Given the description of an element on the screen output the (x, y) to click on. 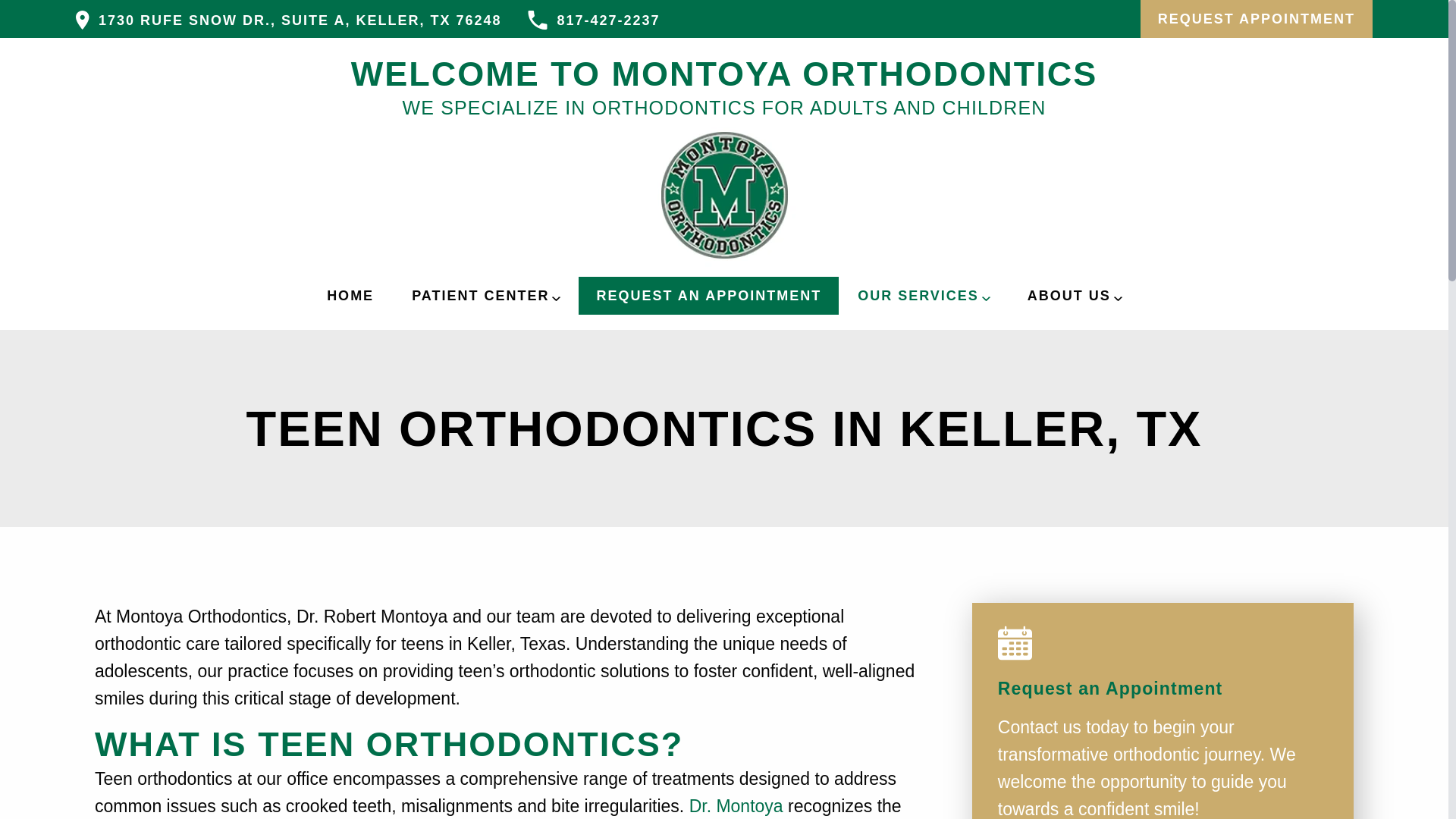
REQUEST APPOINTMENT (1256, 18)
817-427-2237 (593, 20)
HOME (350, 295)
1730 RUFE SNOW DR., SUITE A, KELLER, TX 76248 (287, 20)
PATIENT CENTER (485, 295)
